Given the description of an element on the screen output the (x, y) to click on. 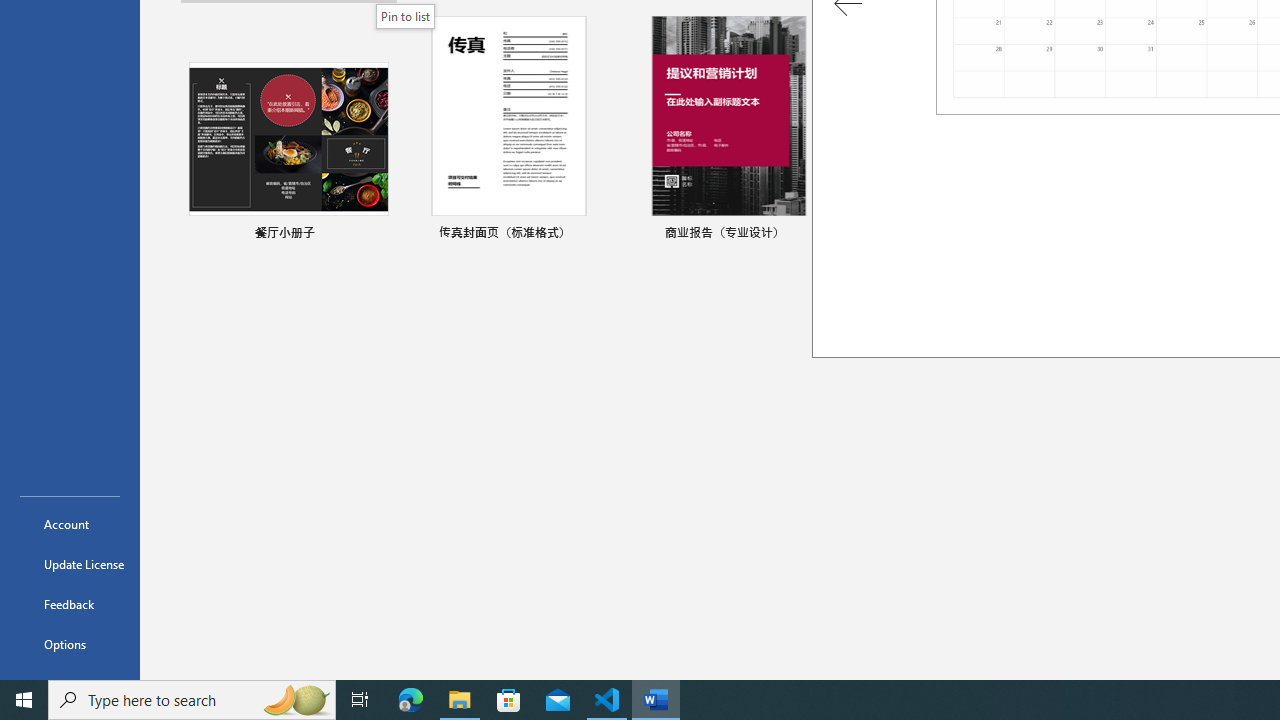
Feedback (69, 603)
Pin to list (1255, 234)
Options (69, 643)
Update License (69, 563)
Pin to list (405, 16)
Account (69, 523)
